Given the description of an element on the screen output the (x, y) to click on. 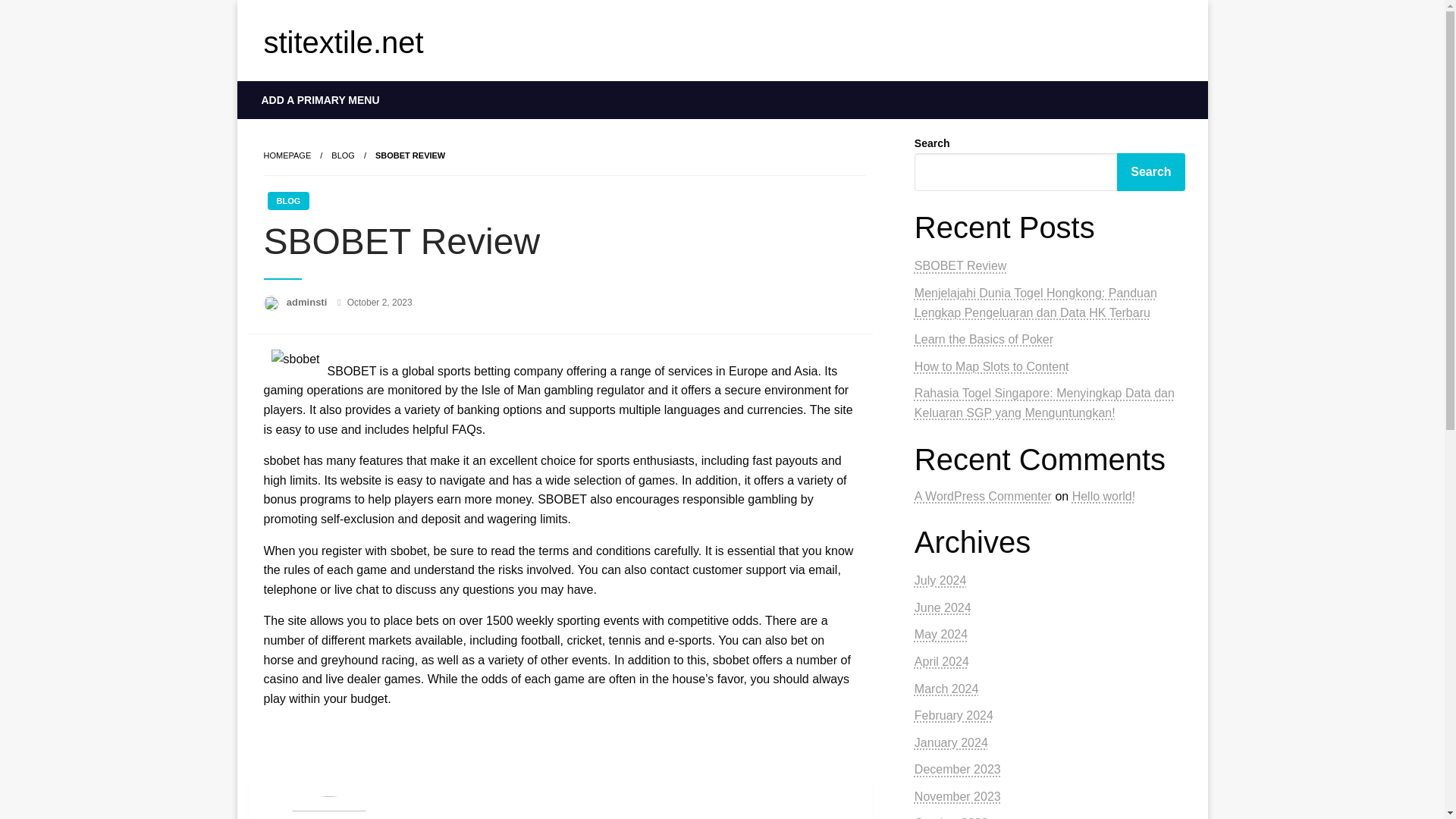
Hello world! (1103, 495)
BLOG (343, 154)
October 2, 2023 (379, 302)
adminsti (308, 301)
May 2024 (941, 634)
A WordPress Commenter (982, 495)
BLOG (287, 200)
stitextile.net (343, 41)
Blog (343, 154)
SBOBET Review (960, 265)
Search (1150, 171)
June 2024 (942, 607)
March 2024 (946, 688)
Learn the Basics of Poker (983, 338)
